Given the description of an element on the screen output the (x, y) to click on. 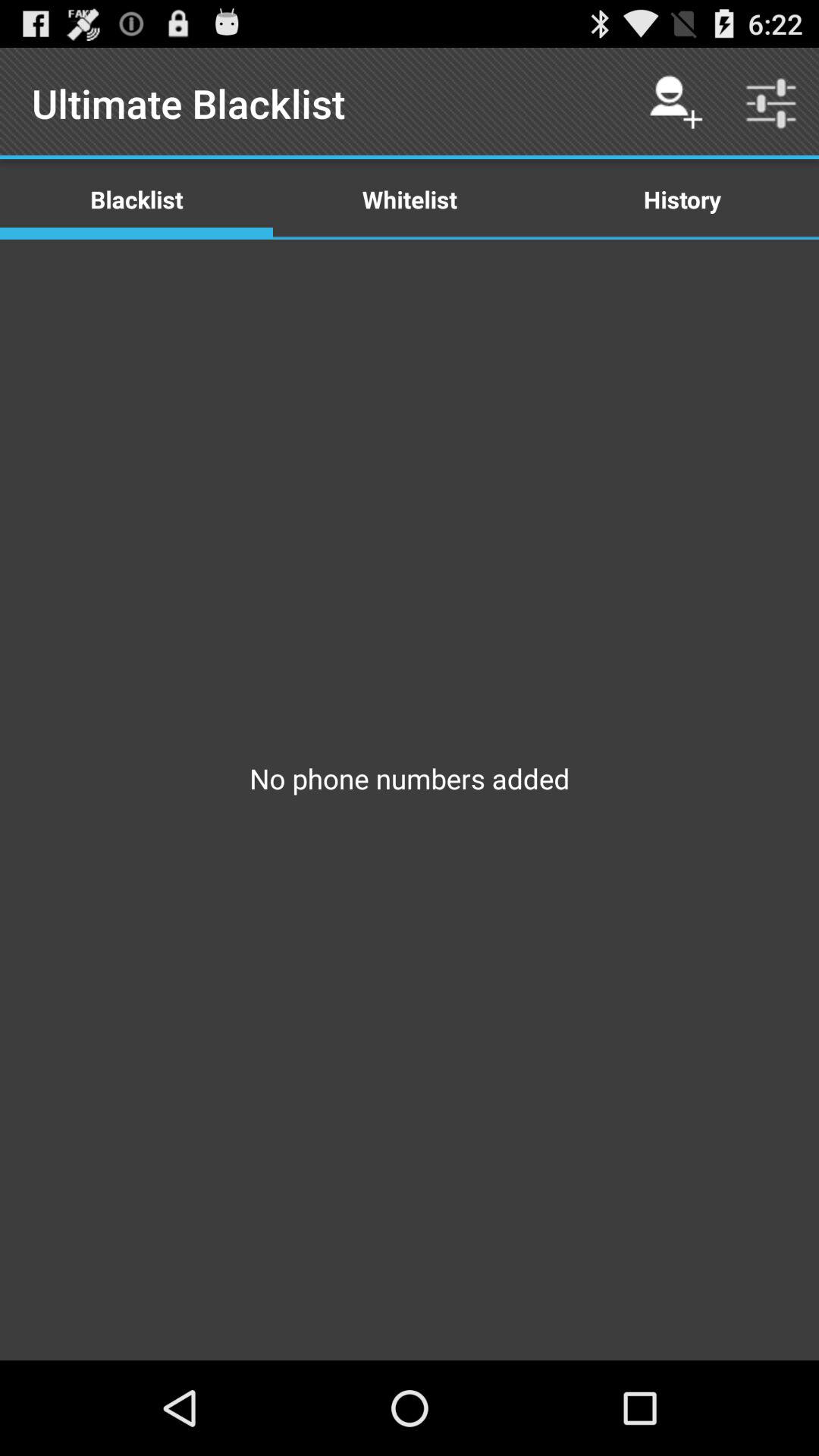
turn on icon above the no phone numbers icon (409, 199)
